Given the description of an element on the screen output the (x, y) to click on. 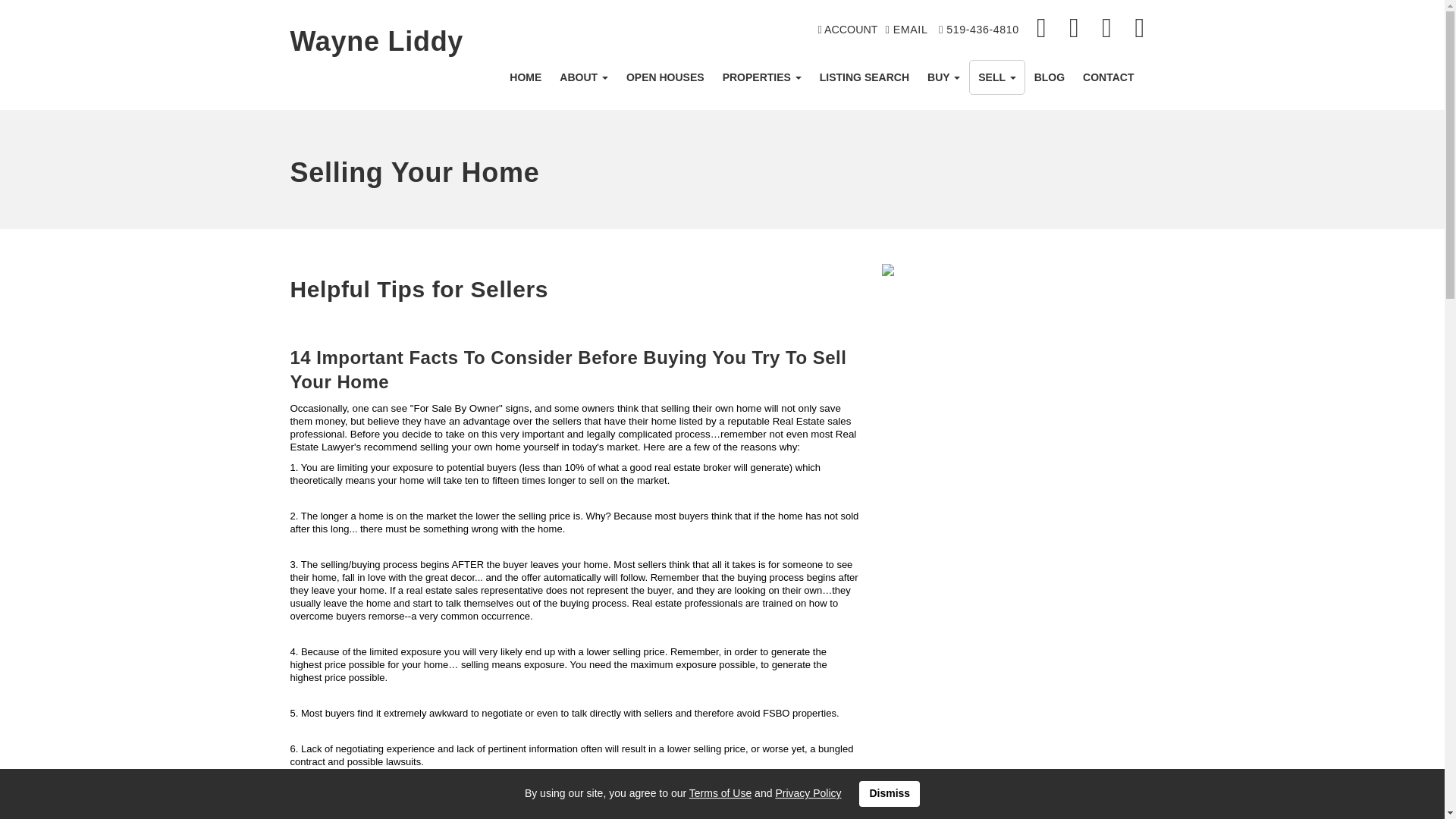
ACCOUNT (847, 29)
BLOG (1049, 77)
BUY (943, 77)
Terms of Use (719, 793)
CONTACT (1108, 77)
PROPERTIES (761, 77)
SELL (997, 77)
519-436-4810 (979, 29)
LinkedIn (1075, 28)
OPEN HOUSES (665, 77)
